Given the description of an element on the screen output the (x, y) to click on. 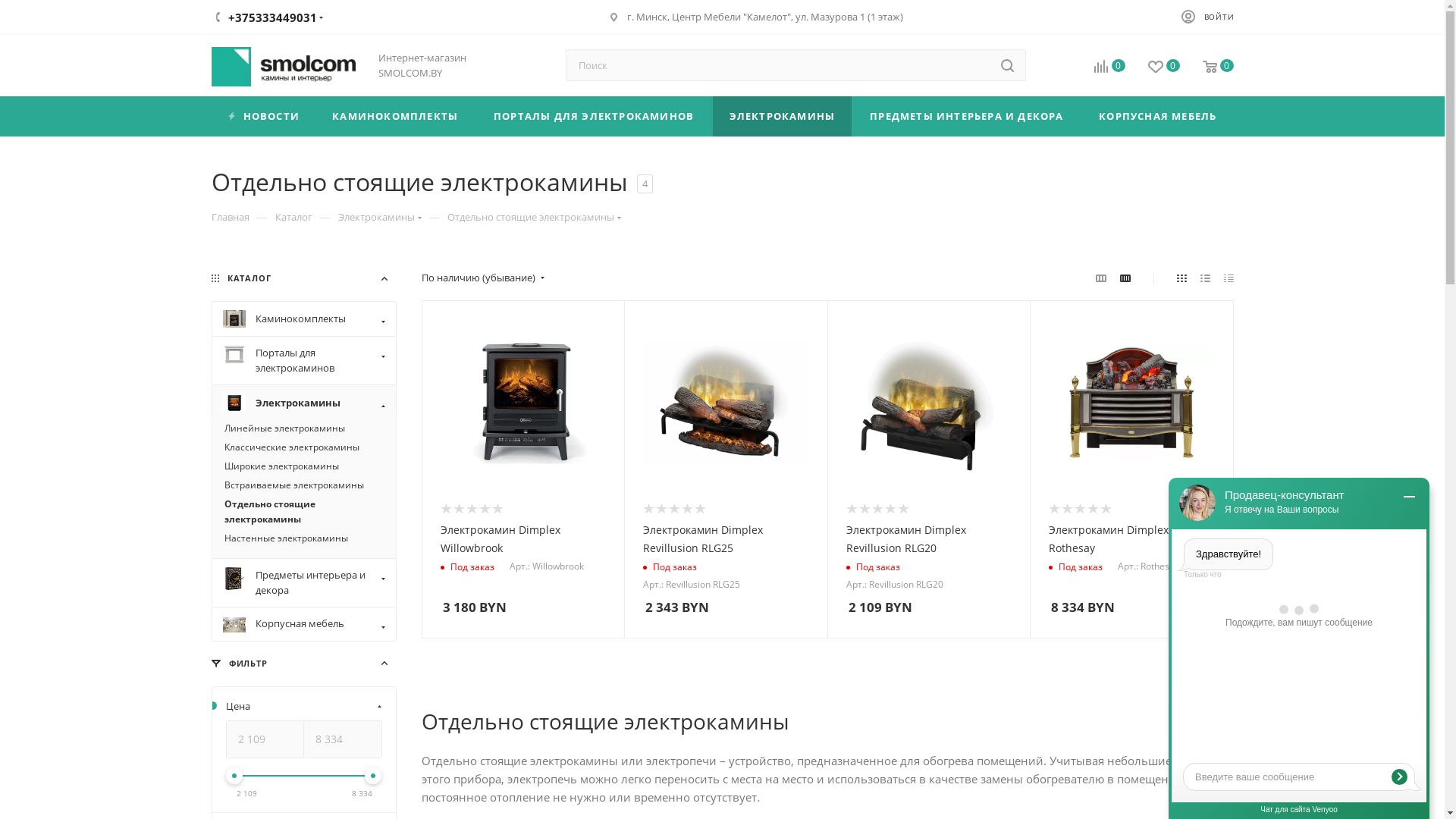
0 Element type: text (1152, 67)
0 Element type: text (1097, 67)
0 Element type: text (1206, 67)
Y Element type: text (4, 4)
